Given the description of an element on the screen output the (x, y) to click on. 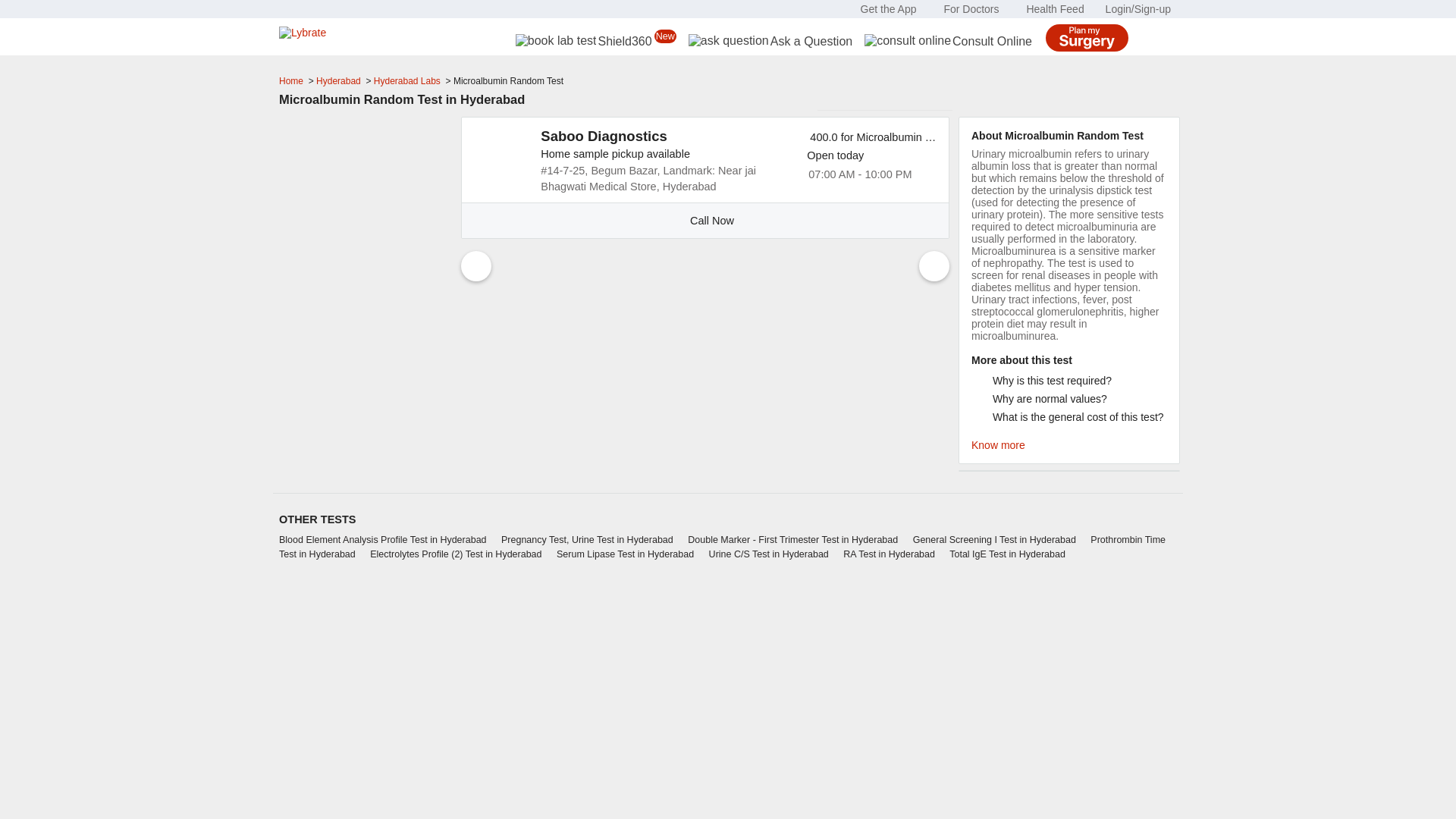
Consult Online (948, 41)
Ask a Question (769, 41)
Previous (476, 265)
Pregnancy Test, Urine Test in Hyderabad (592, 539)
Hyderabad Labs (408, 81)
Home (292, 81)
Prothrombin Time Test in Hyderabad (722, 546)
Hyderabad (338, 81)
Blood Element Analysis Profile Test in Hyderabad (389, 539)
Get the App (888, 9)
Serum Lipase Test in Hyderabad (631, 553)
Call Now (705, 220)
Home (292, 81)
For Doctors (970, 9)
Health Feed (1054, 9)
